Given the description of an element on the screen output the (x, y) to click on. 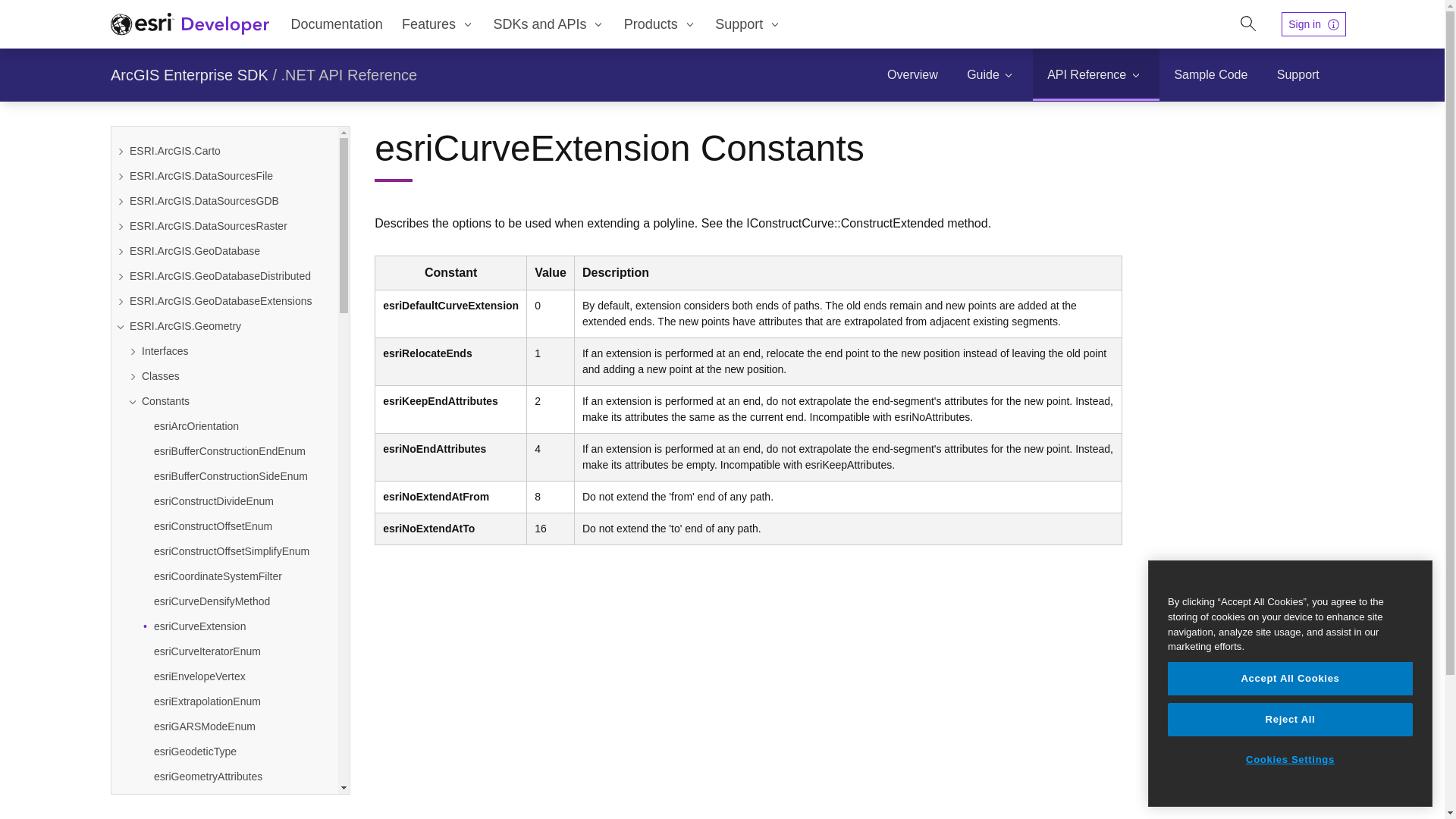
ArcGIS Enterprise SDK (188, 74)
Esri Developer Homepage (190, 24)
Sign in (1313, 24)
API Reference (1095, 74)
Overview (912, 74)
Features (437, 24)
Sample Code (1210, 74)
Guide (992, 74)
Documentation (336, 24)
Support (1297, 74)
.NET API Reference (349, 74)
SDKs and APIs (548, 24)
Support (748, 24)
Products (659, 24)
